Given the description of an element on the screen output the (x, y) to click on. 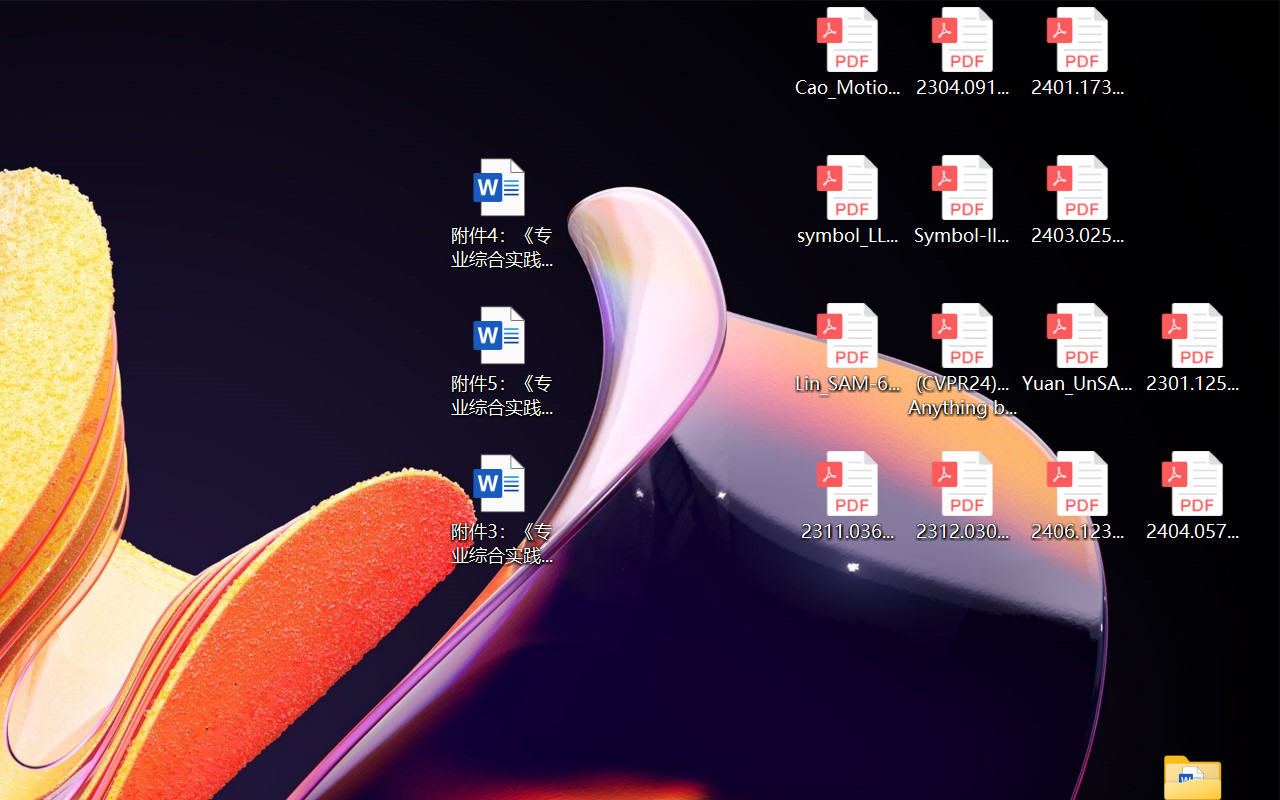
2406.12373v2.pdf (1077, 496)
2301.12597v3.pdf (1192, 348)
2404.05719v1.pdf (1192, 496)
2304.09121v3.pdf (962, 52)
(CVPR24)Matching Anything by Segmenting Anything.pdf (962, 360)
2403.02502v1.pdf (1077, 200)
2311.03658v2.pdf (846, 496)
Symbol-llm-v2.pdf (962, 200)
symbol_LLM.pdf (846, 200)
2401.17399v1.pdf (1077, 52)
2312.03032v2.pdf (962, 496)
